Given the description of an element on the screen output the (x, y) to click on. 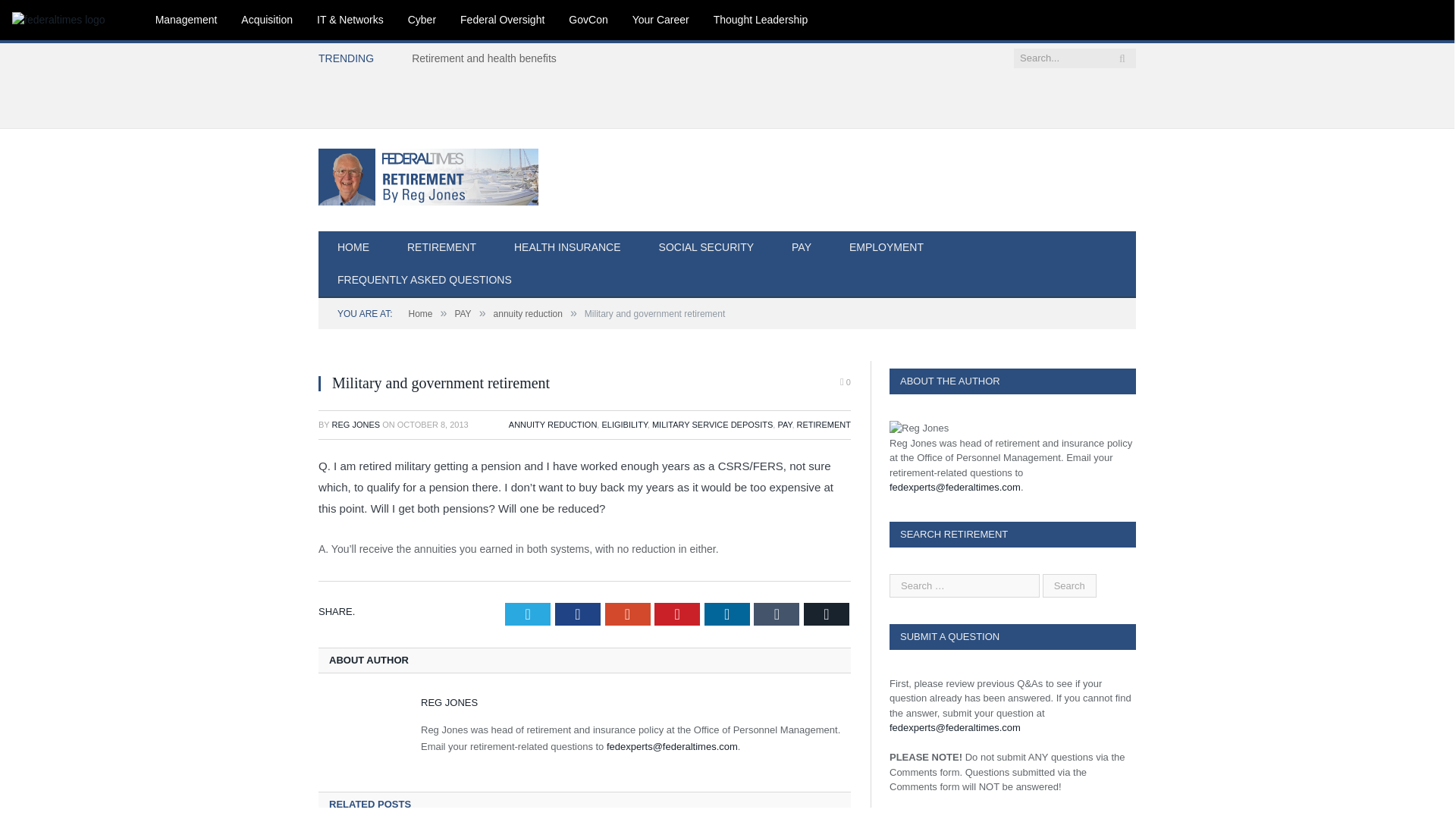
Thought Leadership (761, 19)
RETIREMENT (823, 424)
GovCon (588, 19)
SOCIAL SECURITY (706, 247)
Federal Oversight (502, 19)
Search (1069, 585)
PAY (801, 247)
PAY (784, 424)
ELIGIBILITY (623, 424)
Acquisition (266, 19)
Posts by Reg Jones (355, 424)
Management (186, 19)
HEALTH INSURANCE (567, 247)
FREQUENTLY ASKED QUESTIONS (424, 280)
RETIREMENT (441, 247)
